Given the description of an element on the screen output the (x, y) to click on. 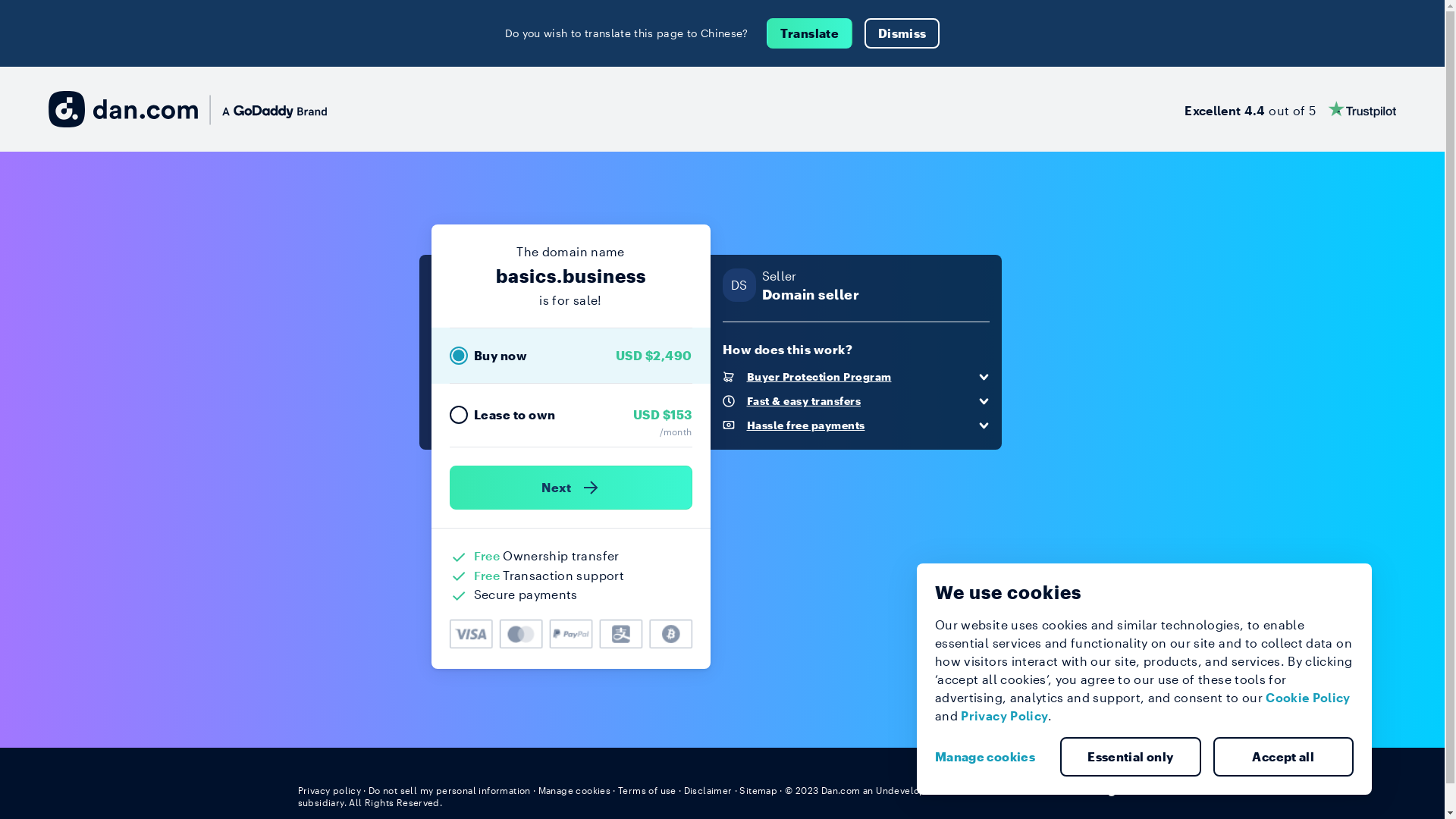
Sitemap Element type: text (758, 789)
Excellent 4.4 out of 5 Element type: text (1290, 109)
Privacy Policy Element type: text (1004, 715)
Translate Element type: text (809, 33)
Manage cookies Element type: text (574, 790)
Disclaimer Element type: text (708, 789)
English Element type: text (1119, 789)
Cookie Policy Element type: text (1307, 697)
Manage cookies Element type: text (991, 756)
Do not sell my personal information Element type: text (449, 789)
Next
) Element type: text (569, 487)
Dismiss Element type: text (901, 33)
Accept all Element type: text (1283, 756)
Essential only Element type: text (1130, 756)
Privacy policy Element type: text (328, 789)
Terms of use Element type: text (647, 789)
